Given the description of an element on the screen output the (x, y) to click on. 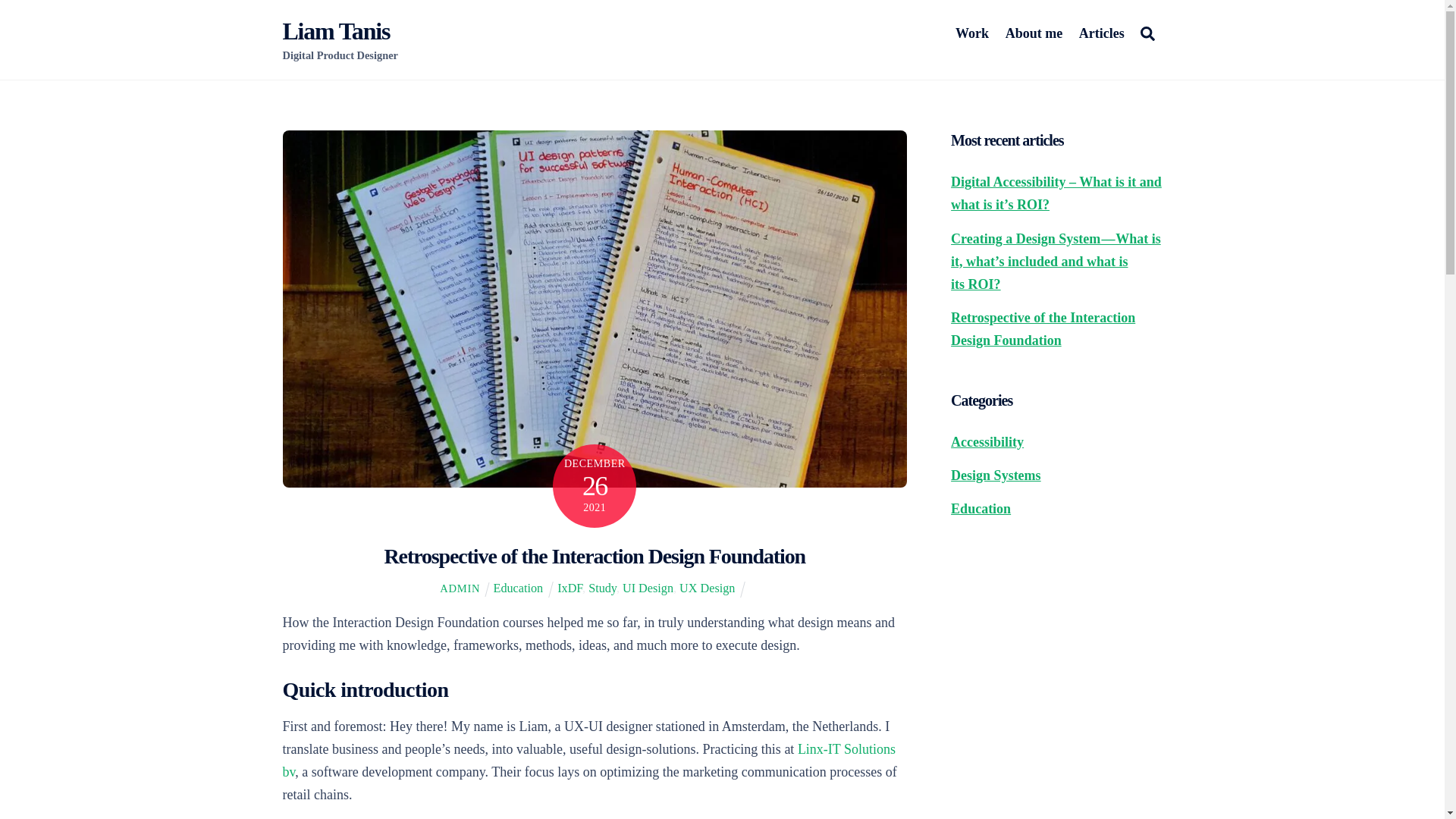
IxDF (569, 588)
ADMIN (459, 588)
UI Design (647, 588)
Accessibility (986, 441)
About me (1033, 33)
Study (601, 588)
Retrospective of the Interaction Design Foundation (595, 556)
Articles (1101, 33)
UX Design (707, 588)
Search (1146, 32)
Education (518, 588)
Design Systems (995, 475)
Liam Tanis (336, 31)
